Given the description of an element on the screen output the (x, y) to click on. 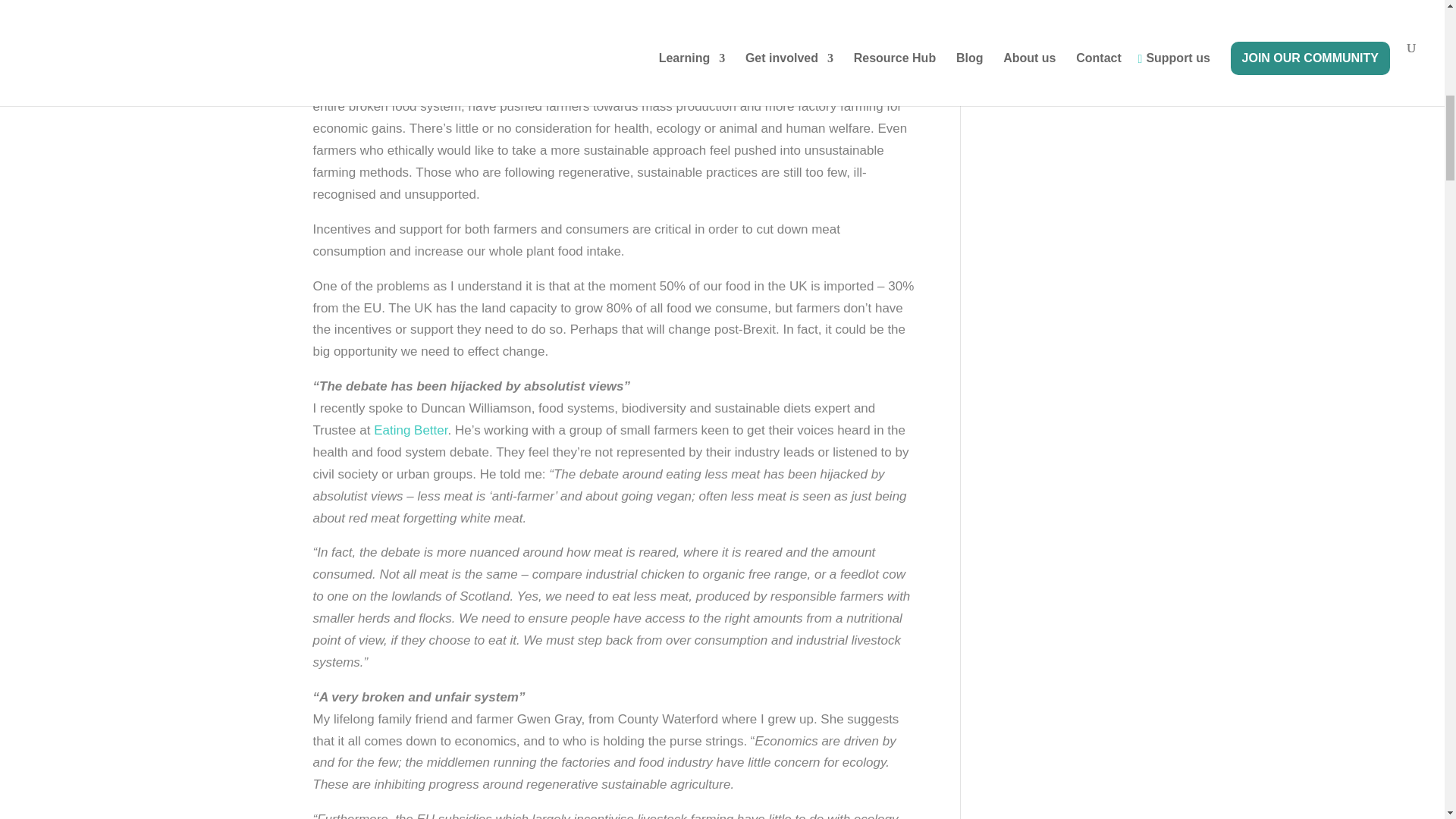
Eating Better (410, 430)
